Given the description of an element on the screen output the (x, y) to click on. 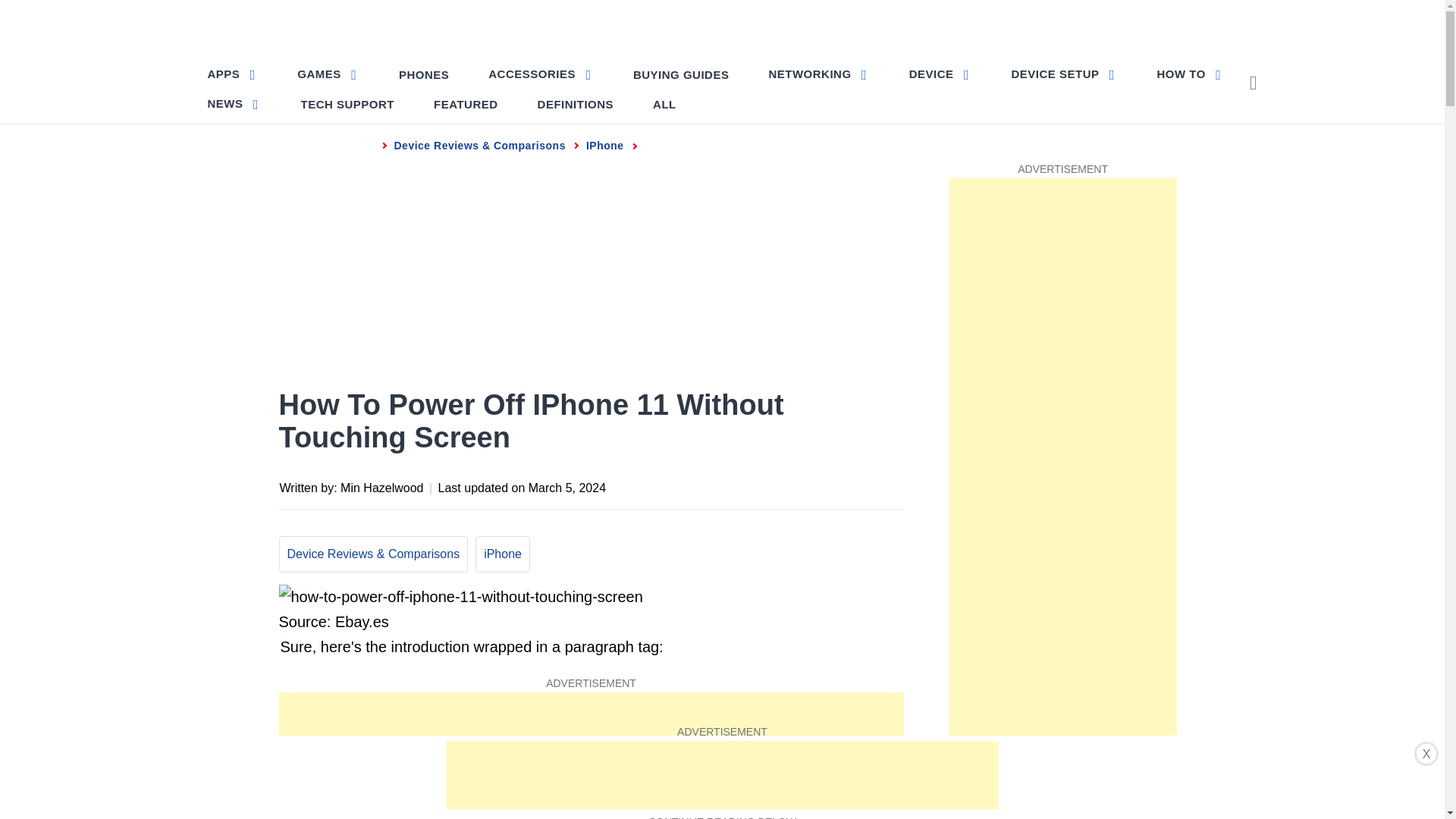
Mail the Link (890, 486)
APPS (233, 73)
GAMES (327, 73)
BUYING GUIDES (681, 74)
DEVICE (940, 73)
Copy to Clipboard (860, 486)
Share on Whatsapp (829, 486)
Share on facebook (740, 486)
ACCESSORIES (540, 73)
Share on Pinterest (800, 486)
PHONES (424, 74)
NETWORKING (818, 73)
Share on twitter (769, 486)
